Given the description of an element on the screen output the (x, y) to click on. 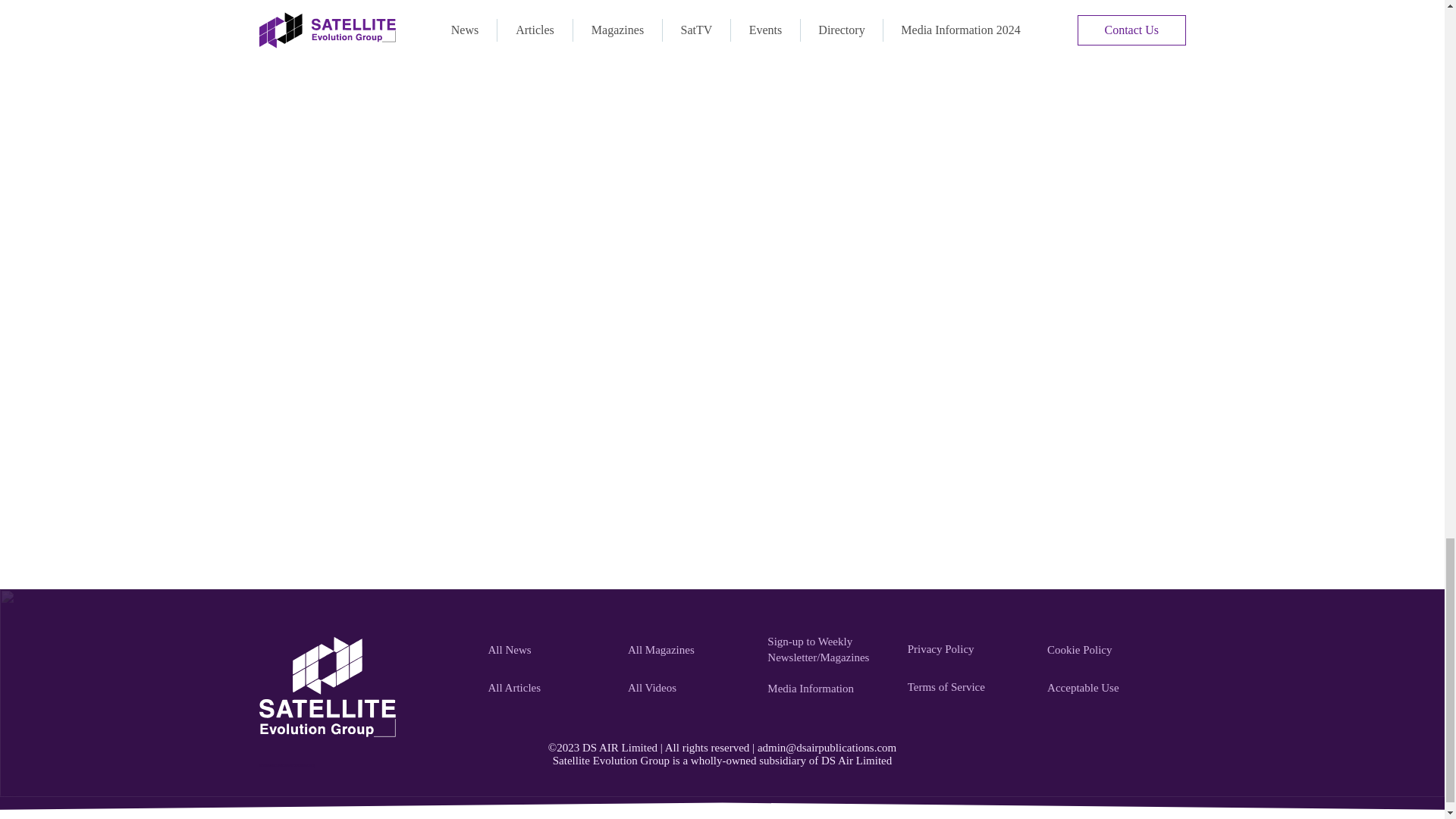
Terms of Service (968, 686)
Media Information (828, 688)
All Articles (549, 688)
Privacy Policy (968, 648)
Cookie Policy (1108, 650)
All Magazines (689, 650)
All News (549, 650)
Acceptable Use (1108, 688)
All Videos (689, 688)
